Given the description of an element on the screen output the (x, y) to click on. 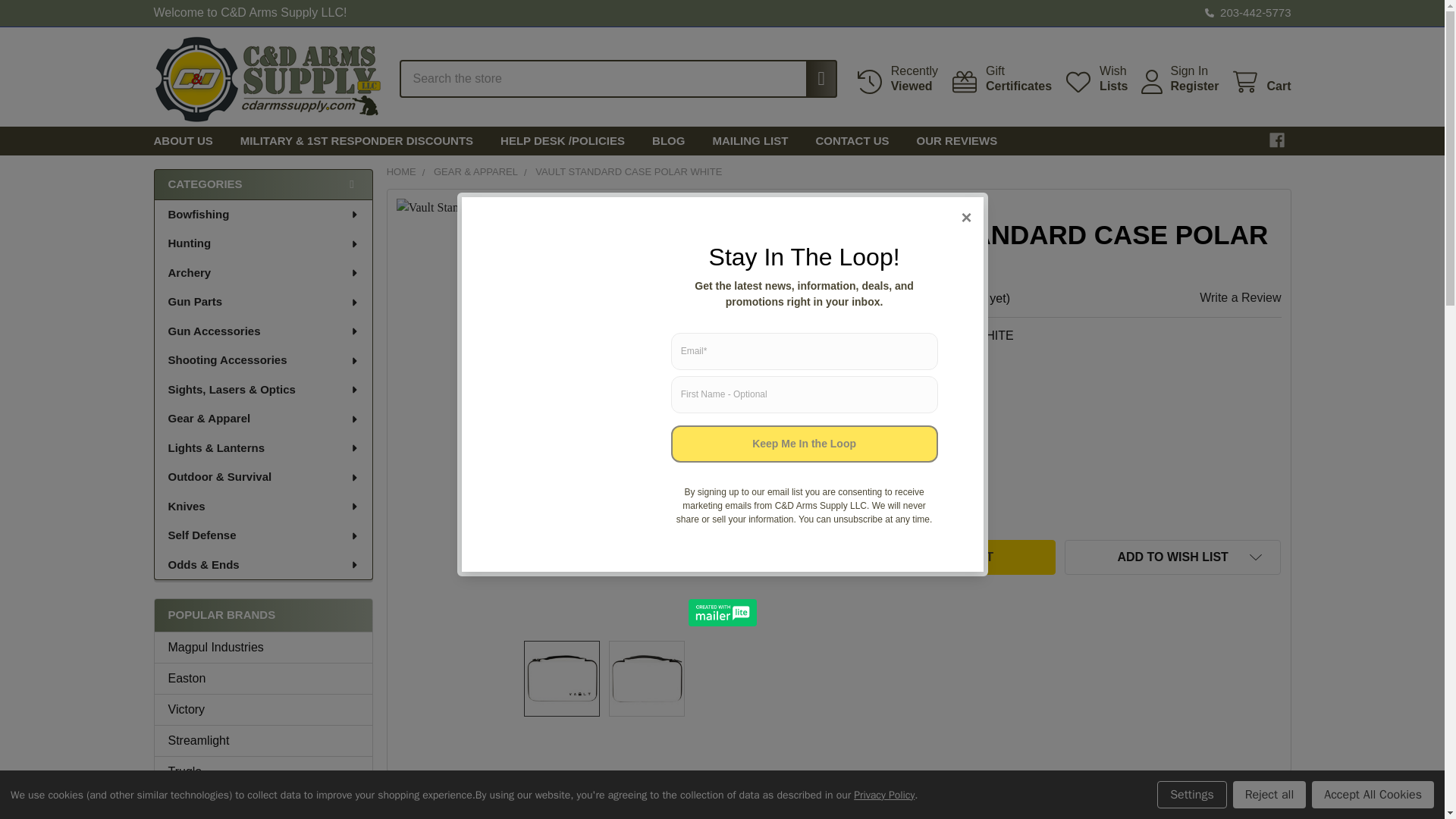
Streamlight (263, 741)
Cart (1095, 78)
1 (1260, 82)
Vault Standard Case Polar White (891, 511)
Cart (561, 678)
Recently Viewed (1260, 82)
Search (896, 78)
203-442-5773 (813, 78)
Facebook (1242, 13)
Truglo (1276, 139)
Birchwood Casey (896, 78)
Wish Lists (263, 771)
Easton (263, 802)
